Given the description of an element on the screen output the (x, y) to click on. 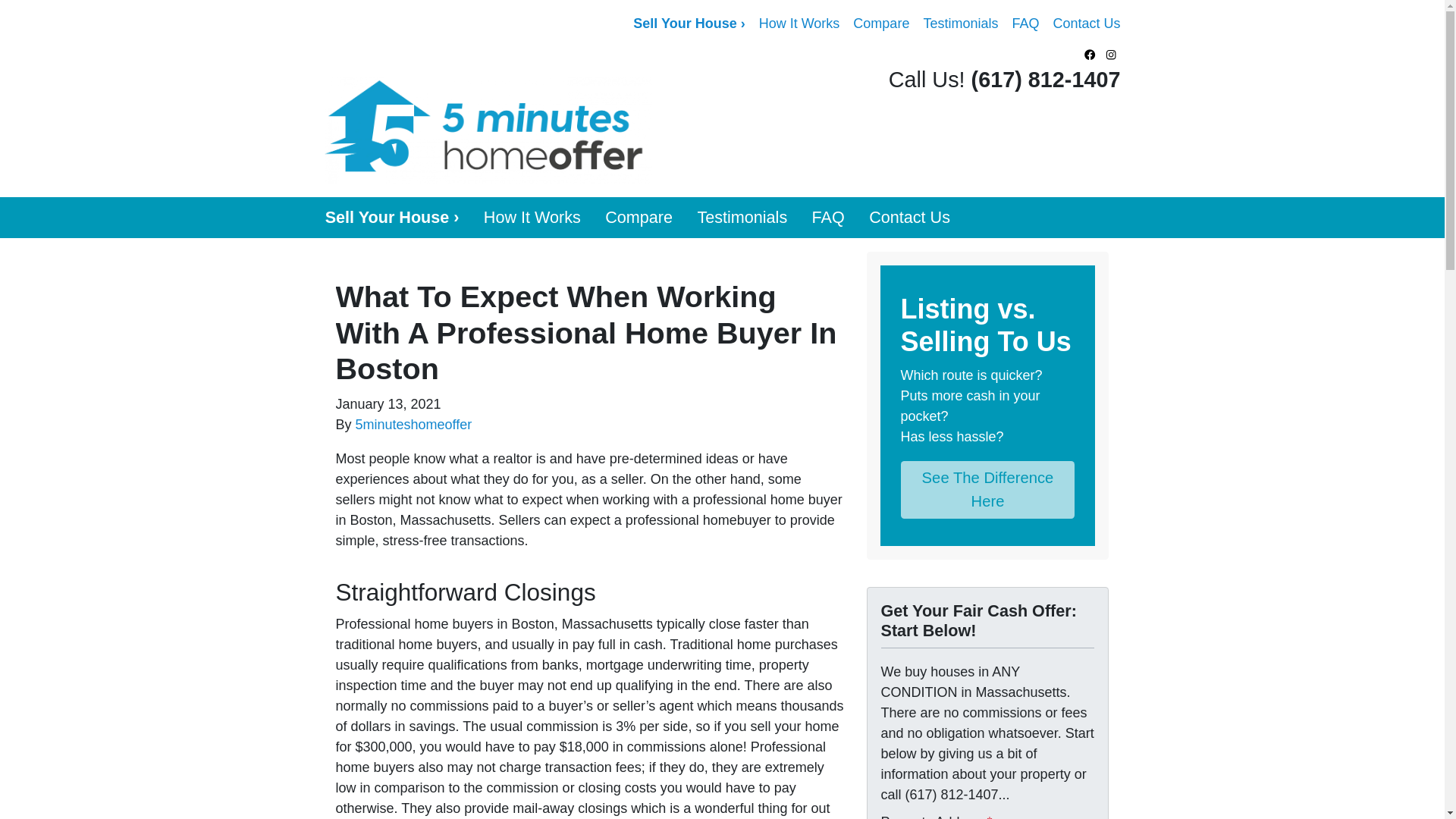
5minuteshomeoffer (413, 424)
How It Works (531, 217)
FAQ (828, 217)
Facebook (1090, 54)
FAQ (1024, 23)
Compare (638, 217)
Compare (638, 217)
How It Works (531, 217)
Instagram (1111, 54)
Compare (880, 23)
Contact Us (1085, 23)
Testimonials (741, 217)
Contact Us (909, 217)
How It Works (799, 23)
Testimonials (959, 23)
